Given the description of an element on the screen output the (x, y) to click on. 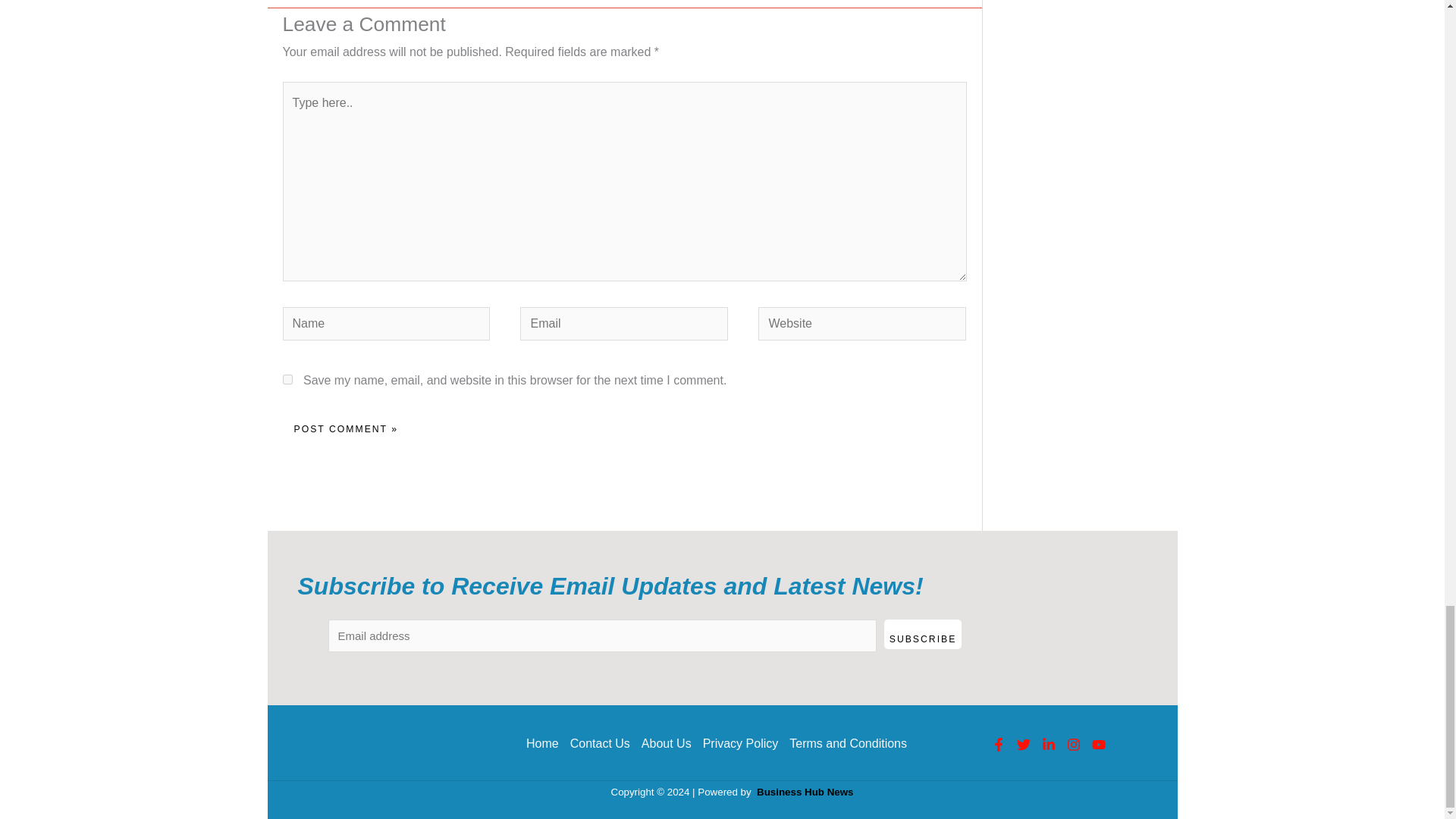
yes (287, 379)
